Given the description of an element on the screen output the (x, y) to click on. 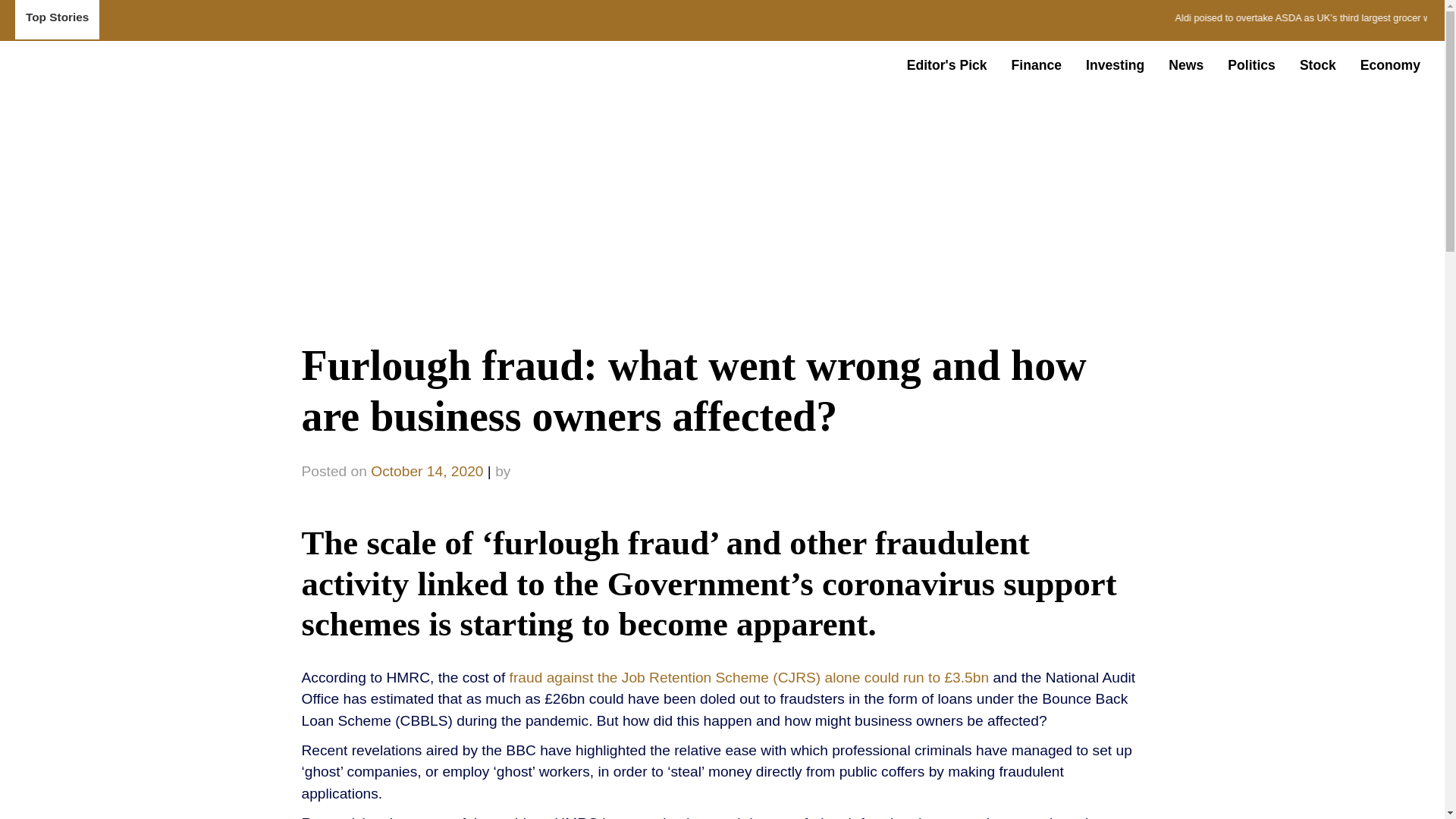
Investing (1115, 65)
Investing (1115, 65)
Editor's Pick (946, 65)
News (1185, 65)
Economy (1390, 65)
October 14, 2020 (427, 471)
Politics (1251, 65)
Finance (1036, 65)
Editor's Pick (946, 65)
News (1185, 65)
